Given the description of an element on the screen output the (x, y) to click on. 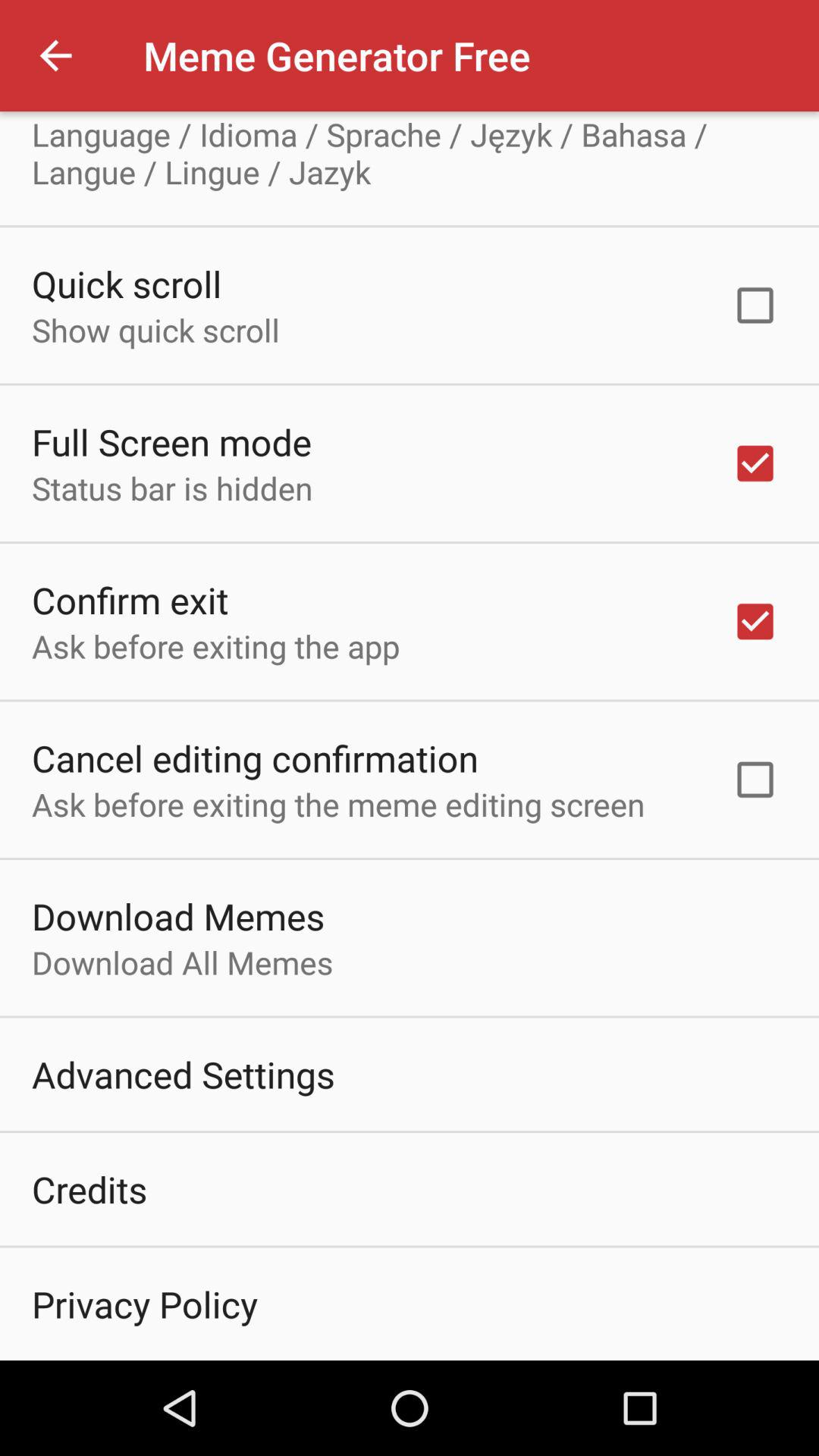
open privacy policy icon (144, 1303)
